Given the description of an element on the screen output the (x, y) to click on. 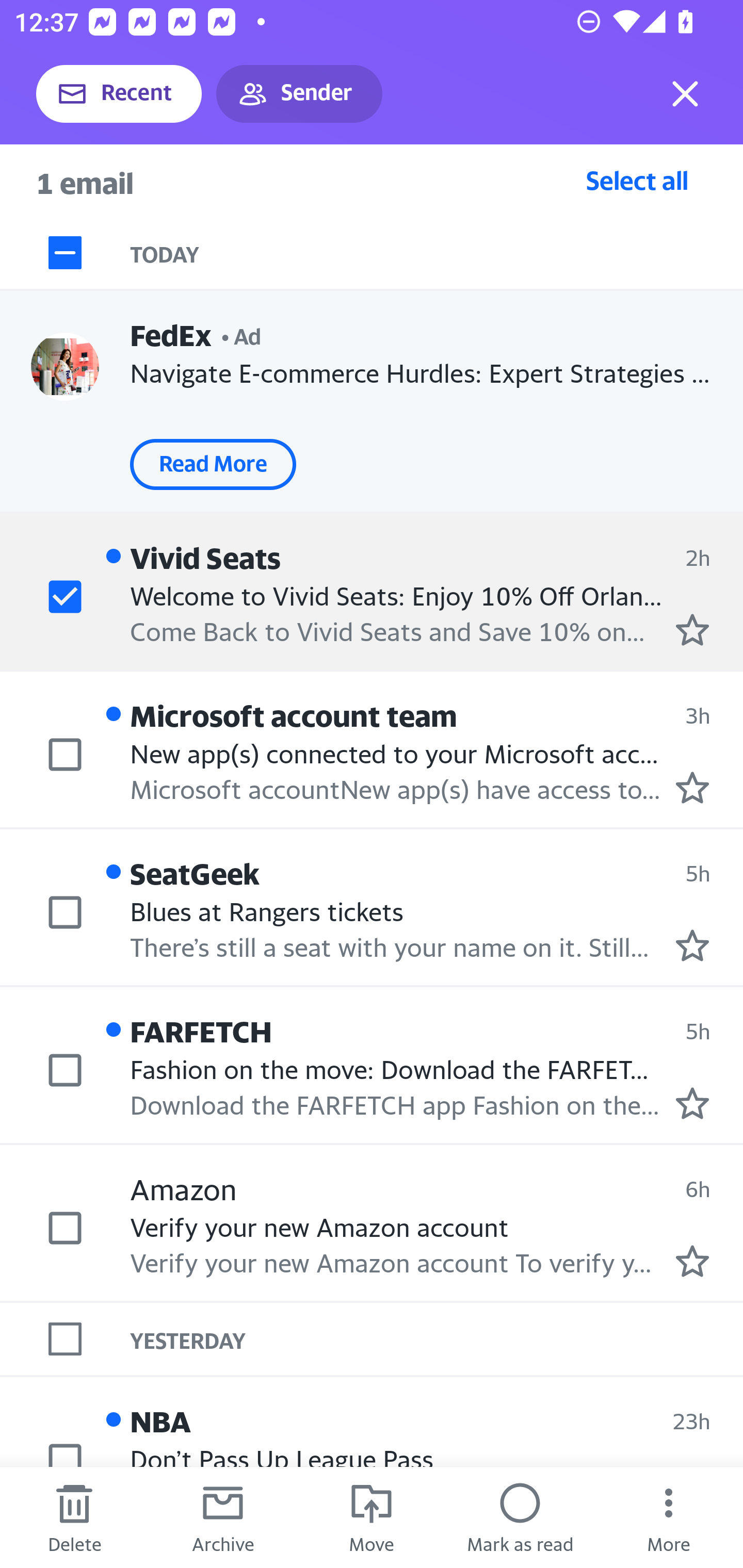
Sender (299, 93)
Exit selection mode (684, 93)
Select all (637, 180)
TODAY (436, 252)
Mark as starred. (692, 629)
Mark as starred. (692, 787)
Mark as starred. (692, 944)
Mark as starred. (692, 1103)
Mark as starred. (692, 1261)
YESTERDAY (436, 1338)
Delete (74, 1517)
Archive (222, 1517)
Move (371, 1517)
Mark as read (519, 1517)
More (668, 1517)
